Given the description of an element on the screen output the (x, y) to click on. 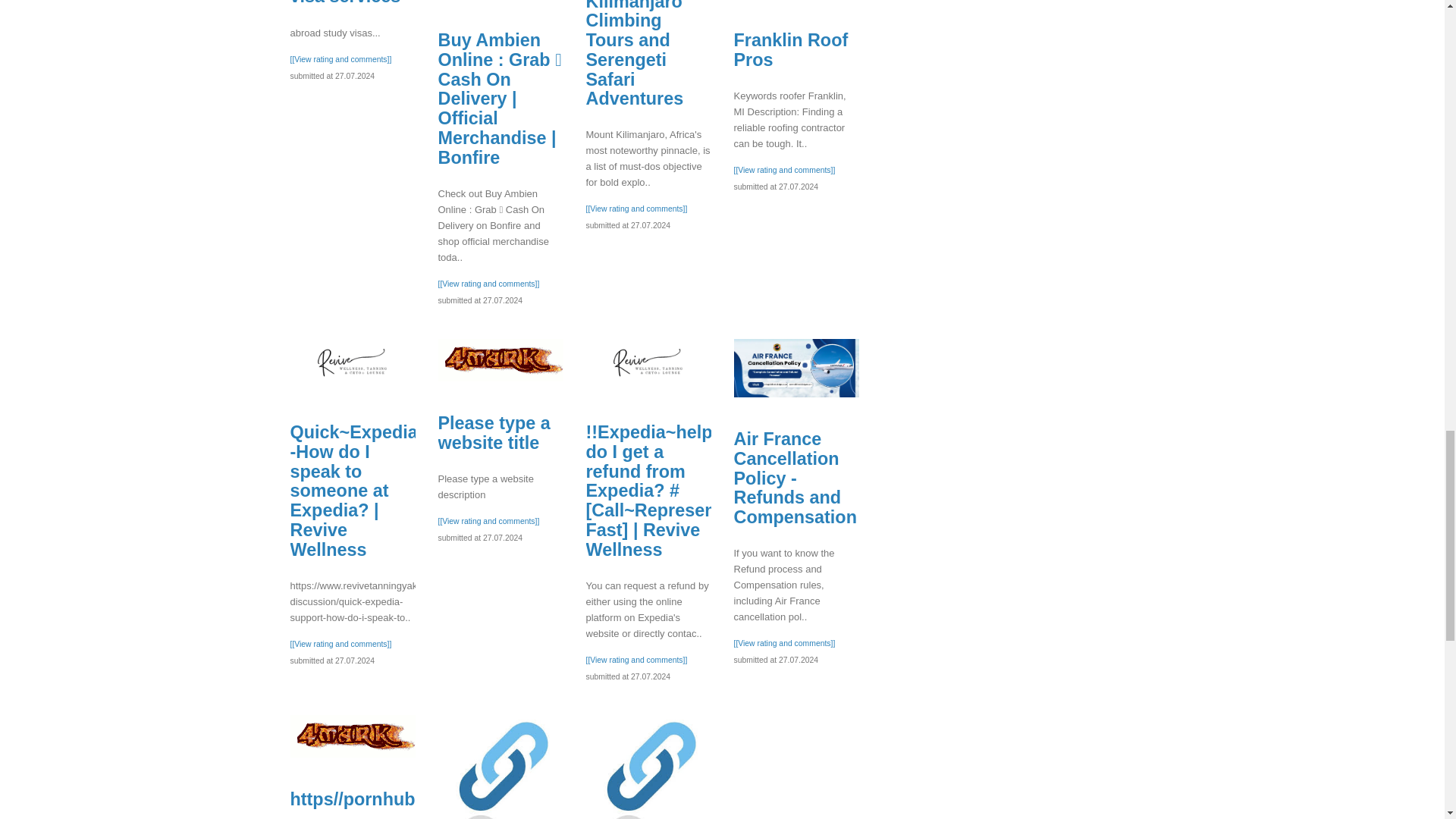
Please type a website title (500, 360)
Buy Ativan Online Via E- Payment Methods Securely (500, 766)
jalandhar study abroad visa services (345, 2)
Air France Cancellation Policy - Refunds and Compensation (796, 368)
Franklin Roof Pros (790, 49)
